Given the description of an element on the screen output the (x, y) to click on. 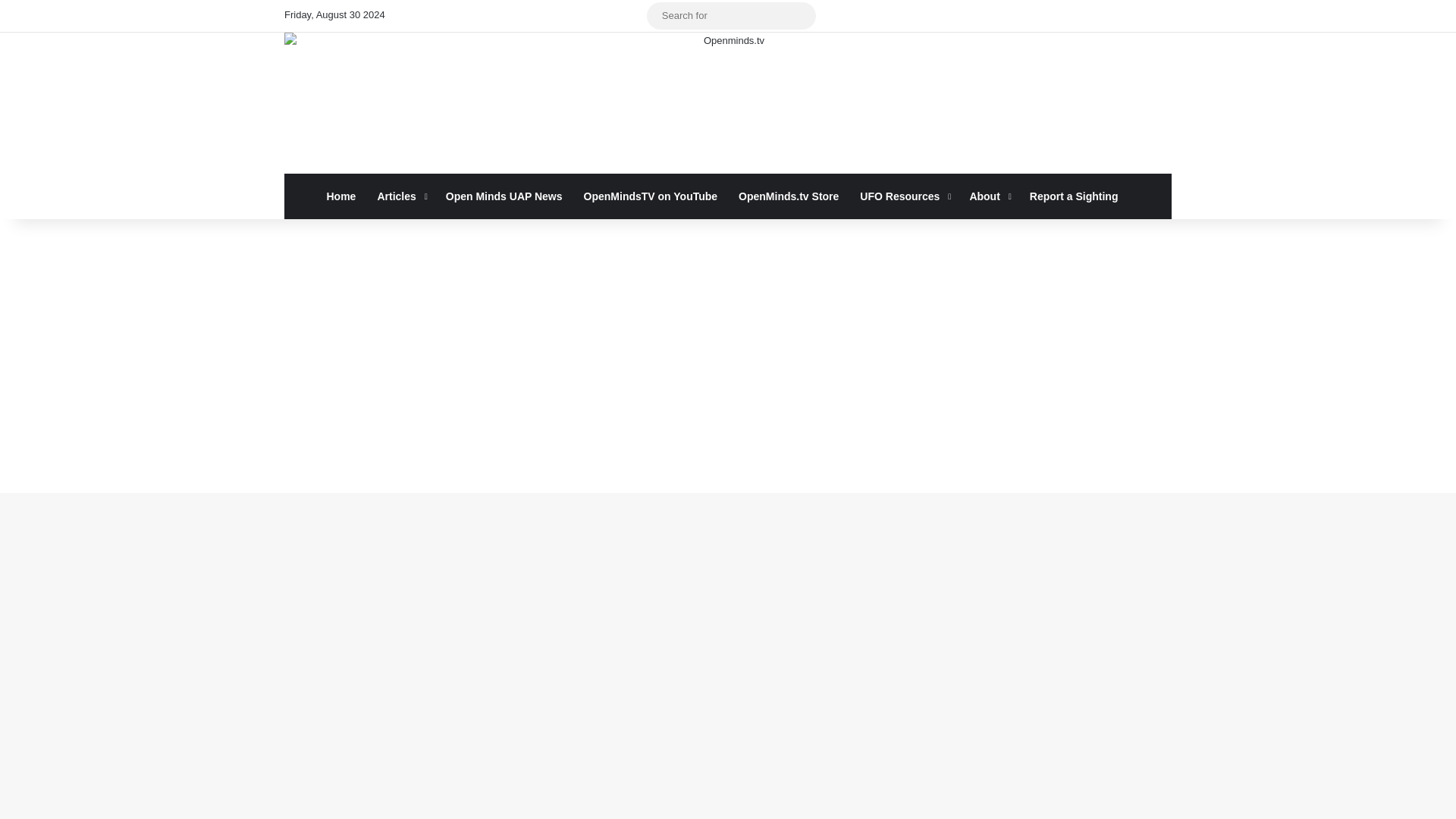
Open Minds UAP News (504, 196)
OpenMindsTV on YouTube (651, 196)
Home (340, 196)
Search for (730, 15)
Search for (800, 15)
UFO Resources (903, 196)
Openminds.tv (727, 102)
About (987, 196)
Articles (399, 196)
OpenMinds.tv Store (788, 196)
